Given the description of an element on the screen output the (x, y) to click on. 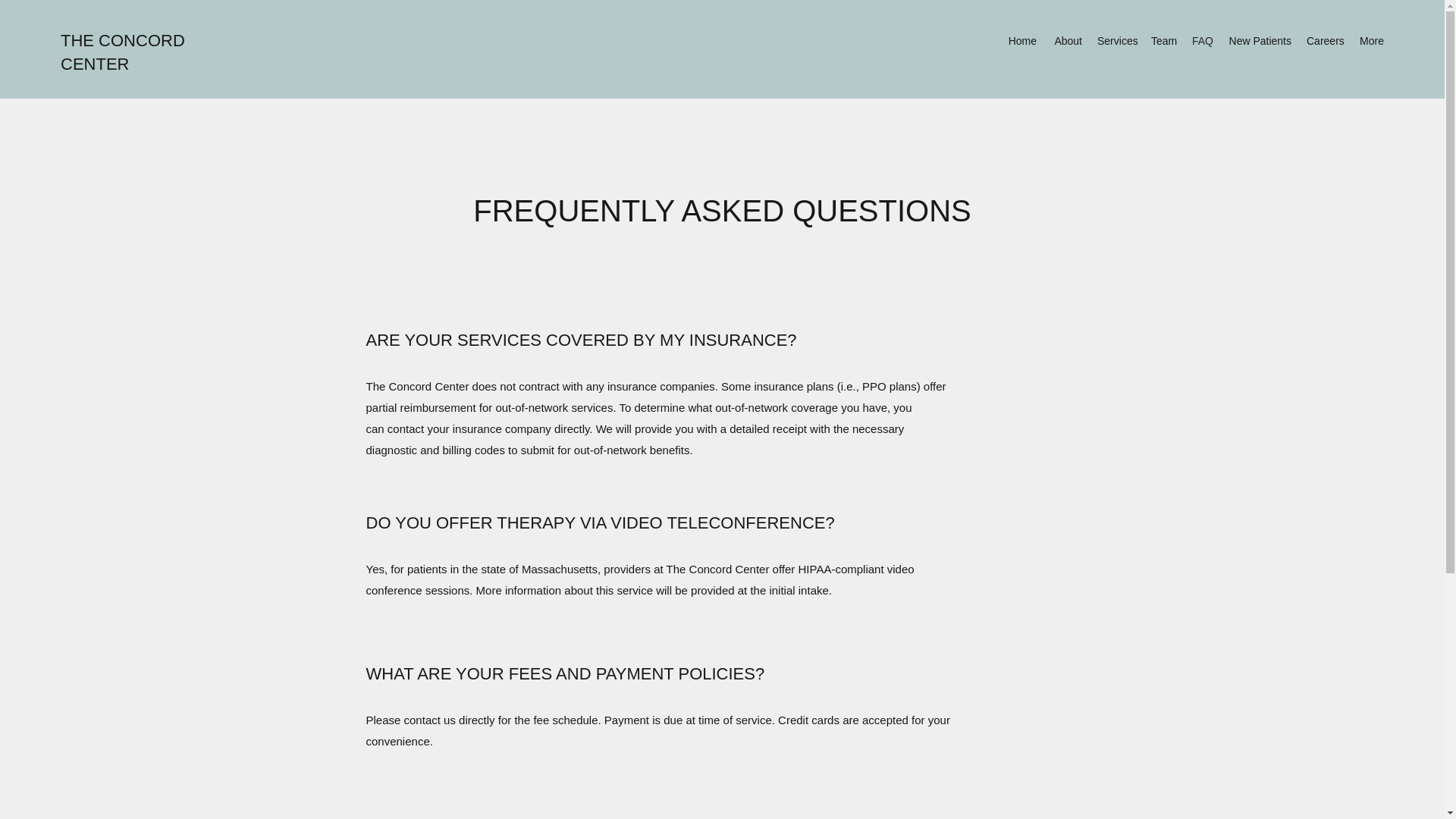
New Patients (1259, 40)
THE CONCORD CENTER (122, 52)
Services (1115, 40)
About (1066, 40)
FAQ (1202, 40)
Home (1021, 40)
Careers (1324, 40)
Team (1162, 40)
